Given the description of an element on the screen output the (x, y) to click on. 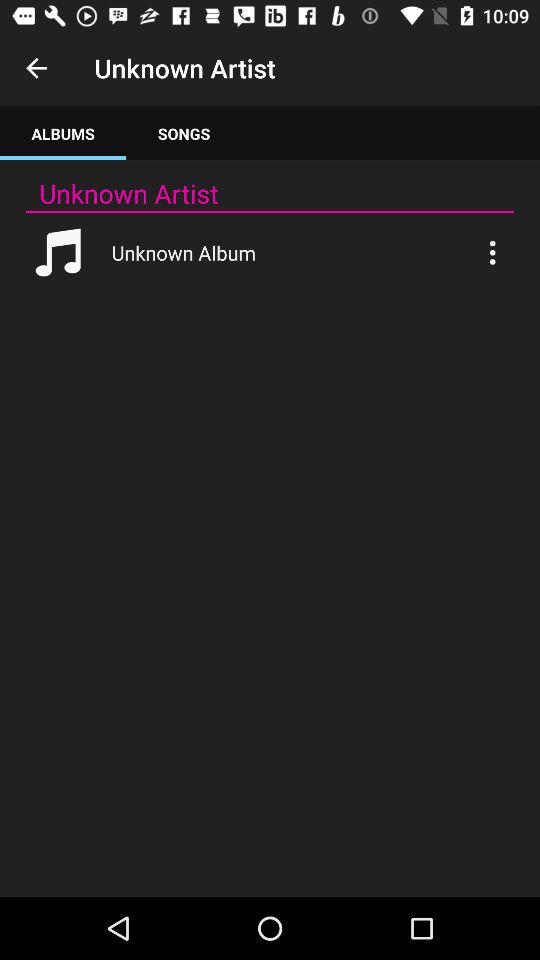
open the songs item (183, 133)
